Given the description of an element on the screen output the (x, y) to click on. 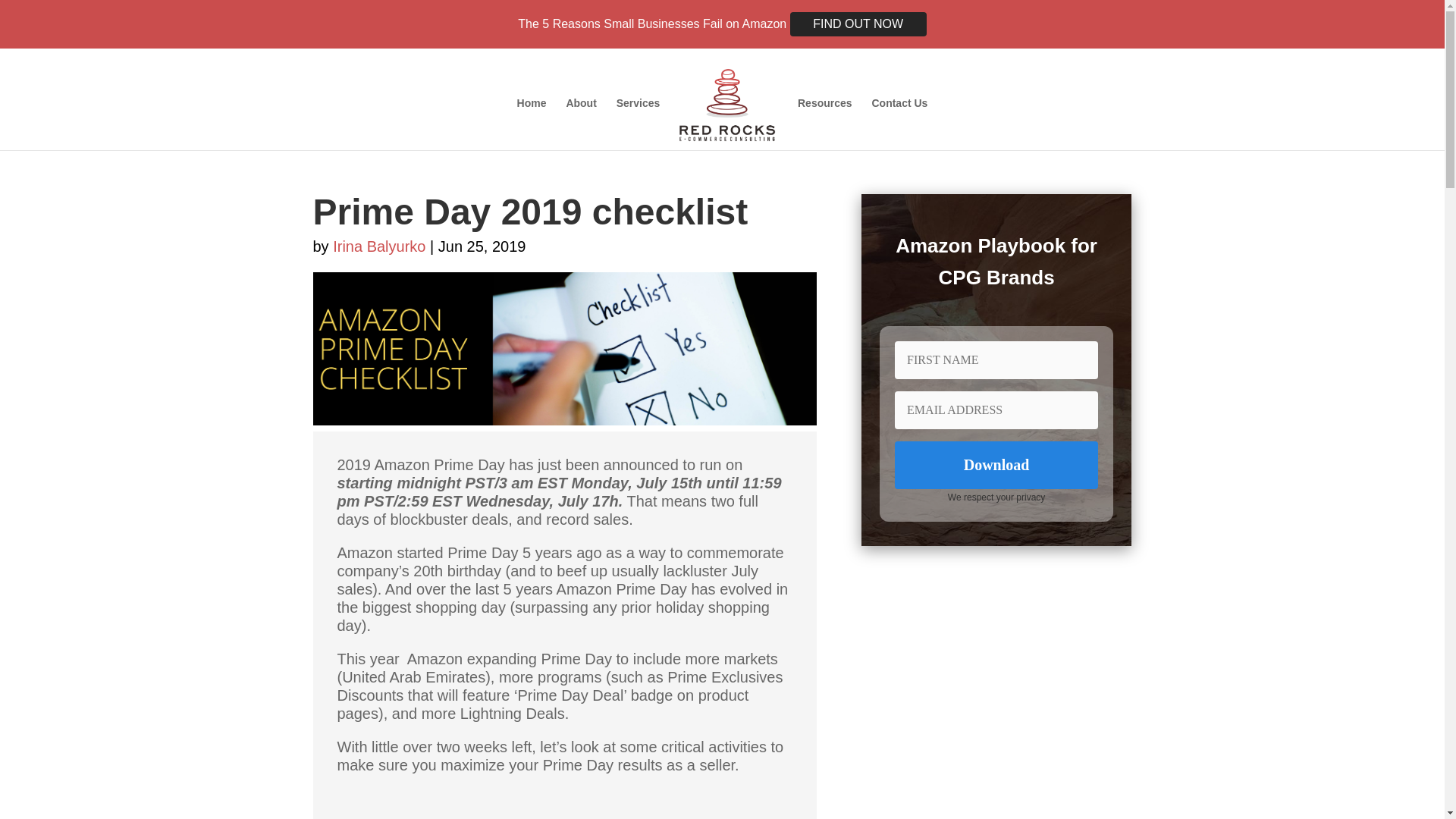
Resources (824, 123)
Contact Us (898, 123)
Irina Balyurko (379, 246)
Download (996, 464)
Posts by Irina Balyurko (379, 246)
FIND OUT NOW (858, 24)
